Given the description of an element on the screen output the (x, y) to click on. 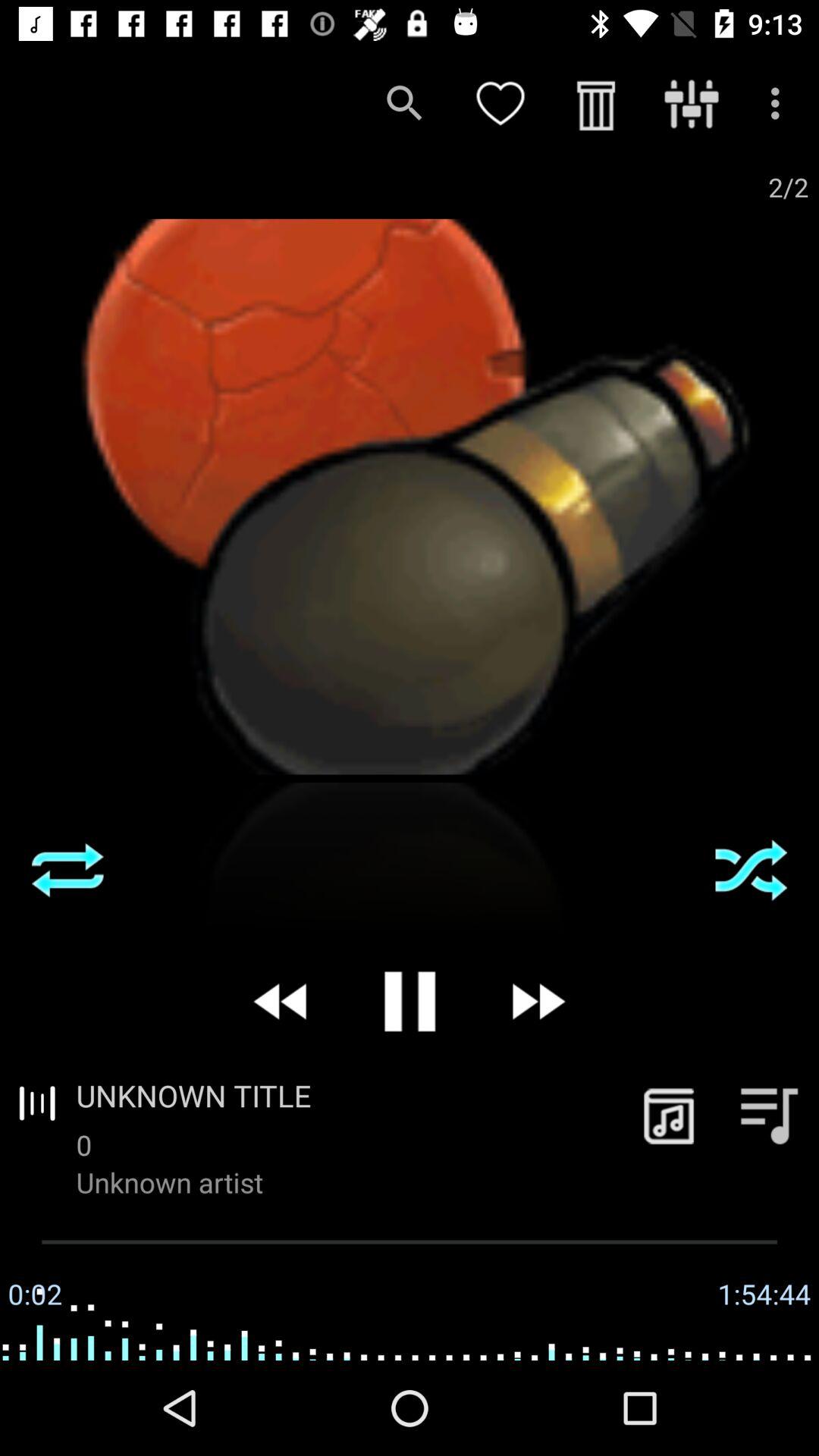
i dont know (67, 869)
